Given the description of an element on the screen output the (x, y) to click on. 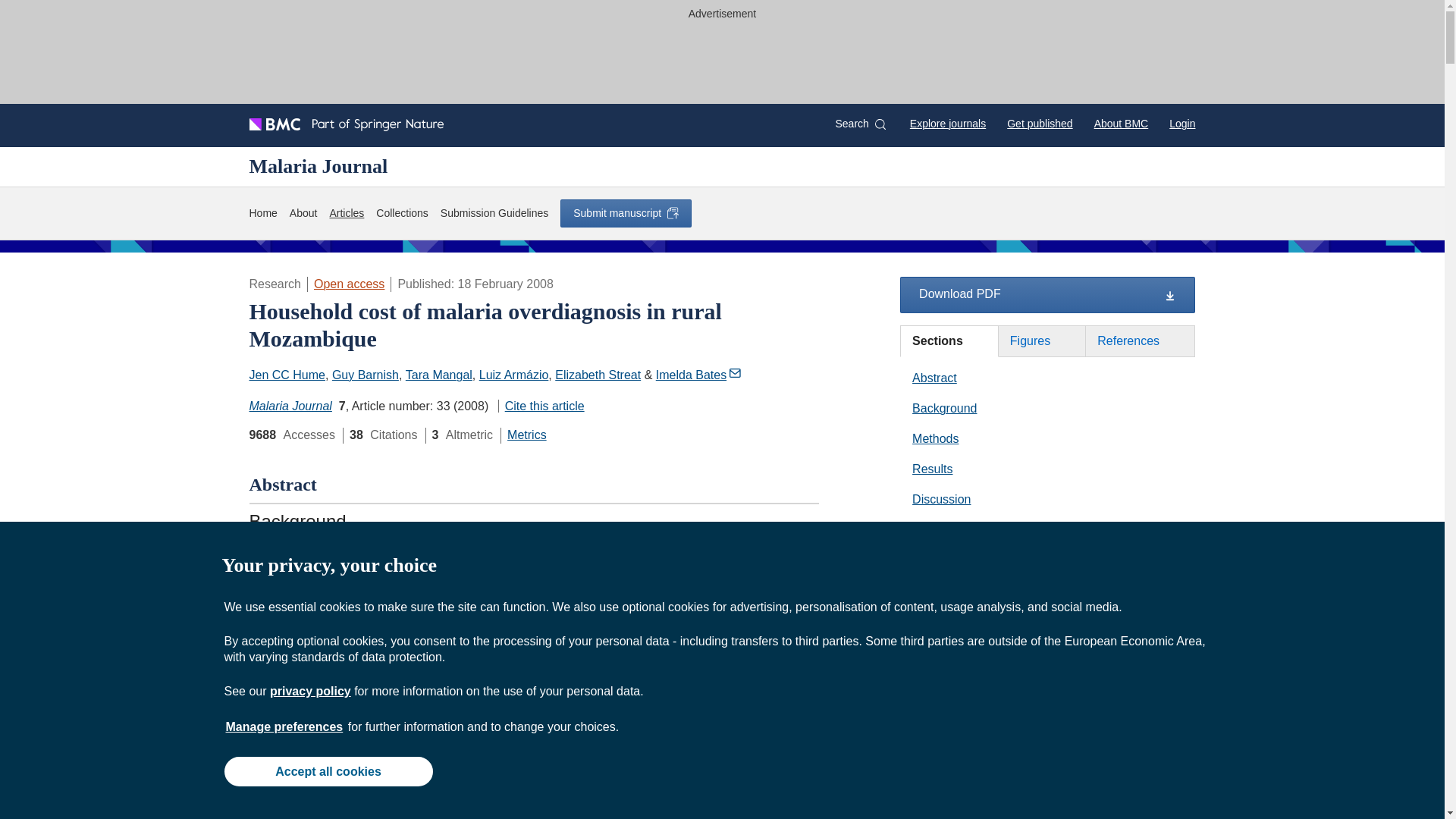
Login (1182, 123)
Malaria Journal (317, 166)
Home (262, 212)
Get published (1039, 123)
Malaria Journal (289, 405)
Tara Mangal (438, 374)
About (303, 212)
privacy policy (309, 690)
Submission Guidelines (494, 212)
Imelda Bates (698, 374)
